Given the description of an element on the screen output the (x, y) to click on. 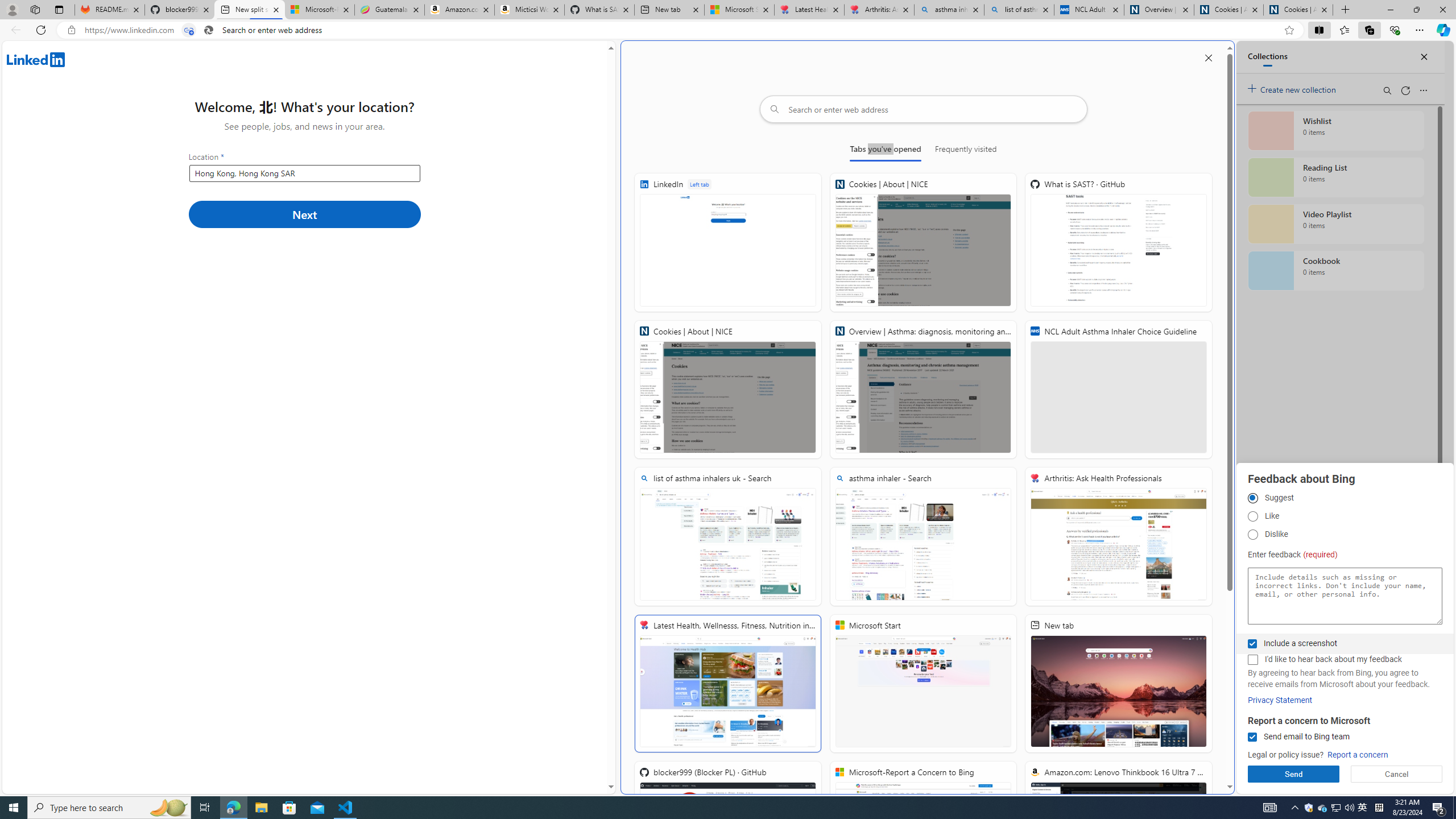
Privacy Statement (1280, 700)
New split screen (249, 9)
Arthritis: Ask Health Professionals (879, 9)
NCL Adult Asthma Inhaler Choice Guideline (1088, 9)
Include a screenshot (1251, 643)
Cookies | About | NICE (727, 389)
I'd like to hear back about my feedback (1252, 659)
